Given the description of an element on the screen output the (x, y) to click on. 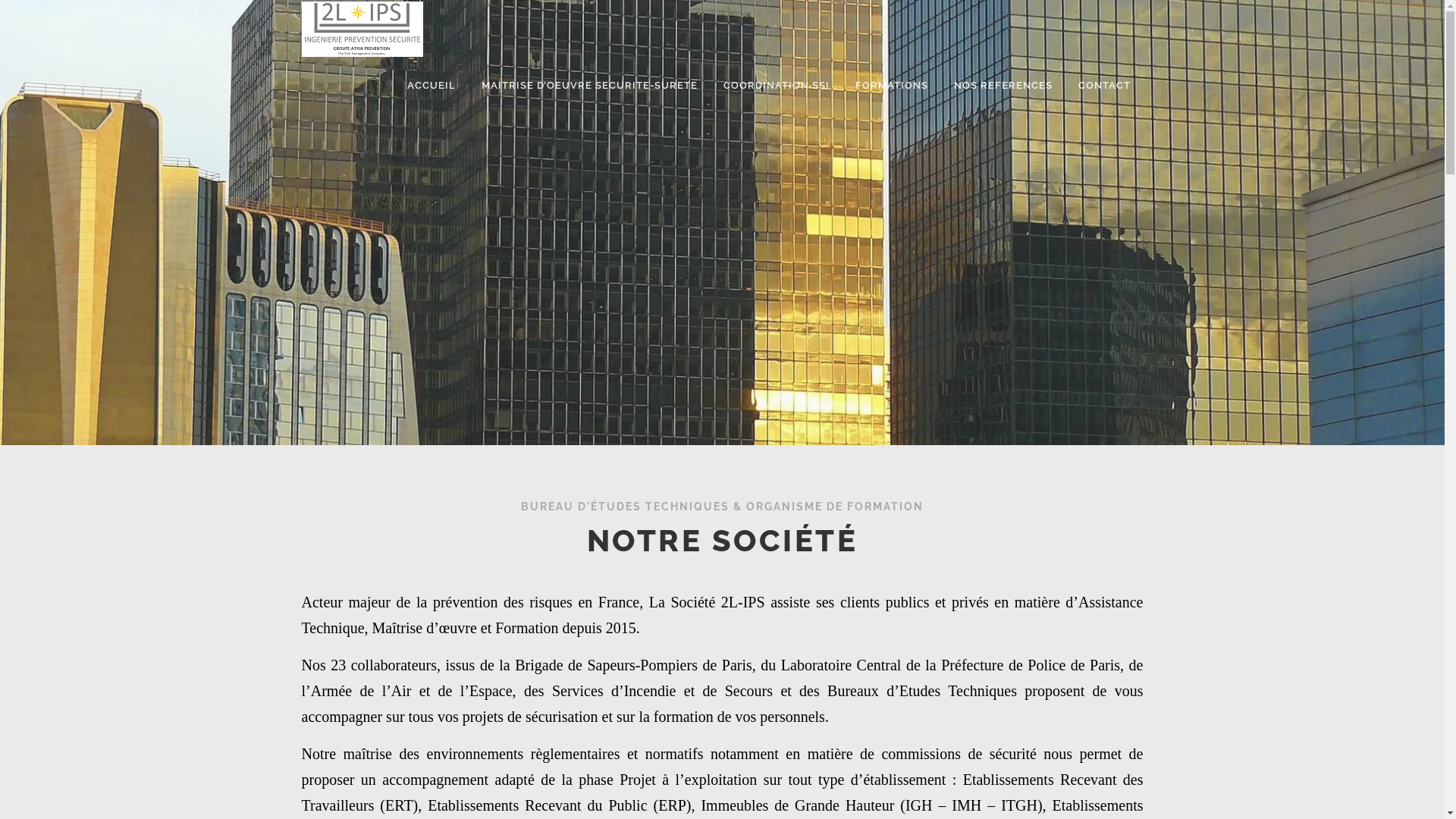
ACCUEIL Element type: text (431, 84)
CONTACT Element type: text (1103, 84)
COORDINATION SSI Element type: text (775, 84)
NOS REFERENCES Element type: text (1002, 84)
FORMATIONS Element type: text (890, 84)
